Given the description of an element on the screen output the (x, y) to click on. 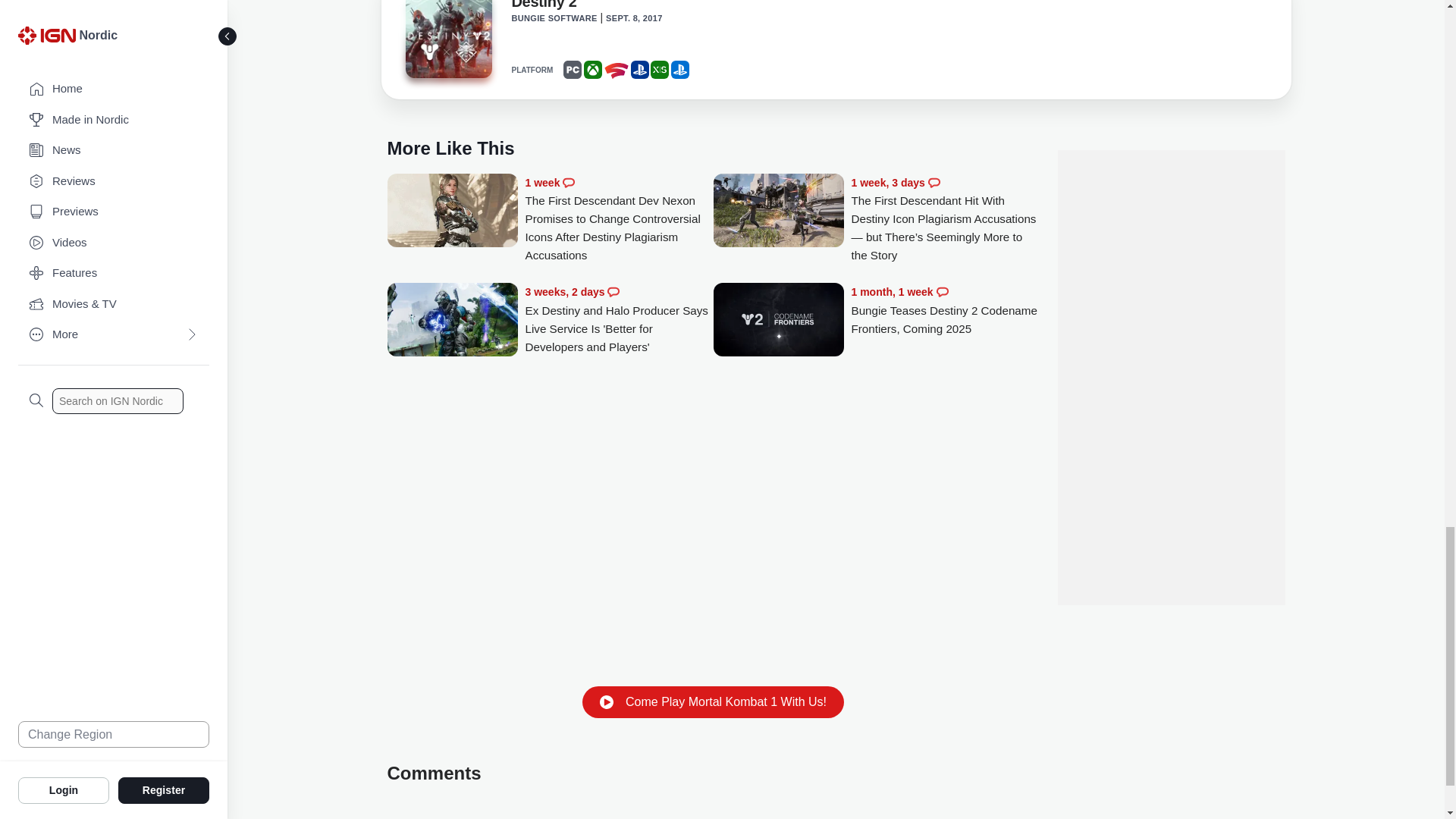
XBOXSERIES (659, 69)
Destiny 2 (543, 7)
Bungie Teases Destiny 2 Codename Frontiers, Coming 2025 (778, 320)
Destiny 2 (448, 38)
PS4 (639, 69)
Destiny 2 (448, 41)
XBOXONE (592, 69)
Bungie Teases Destiny 2 Codename Frontiers, Coming 2025 (944, 310)
PC (571, 69)
